Given the description of an element on the screen output the (x, y) to click on. 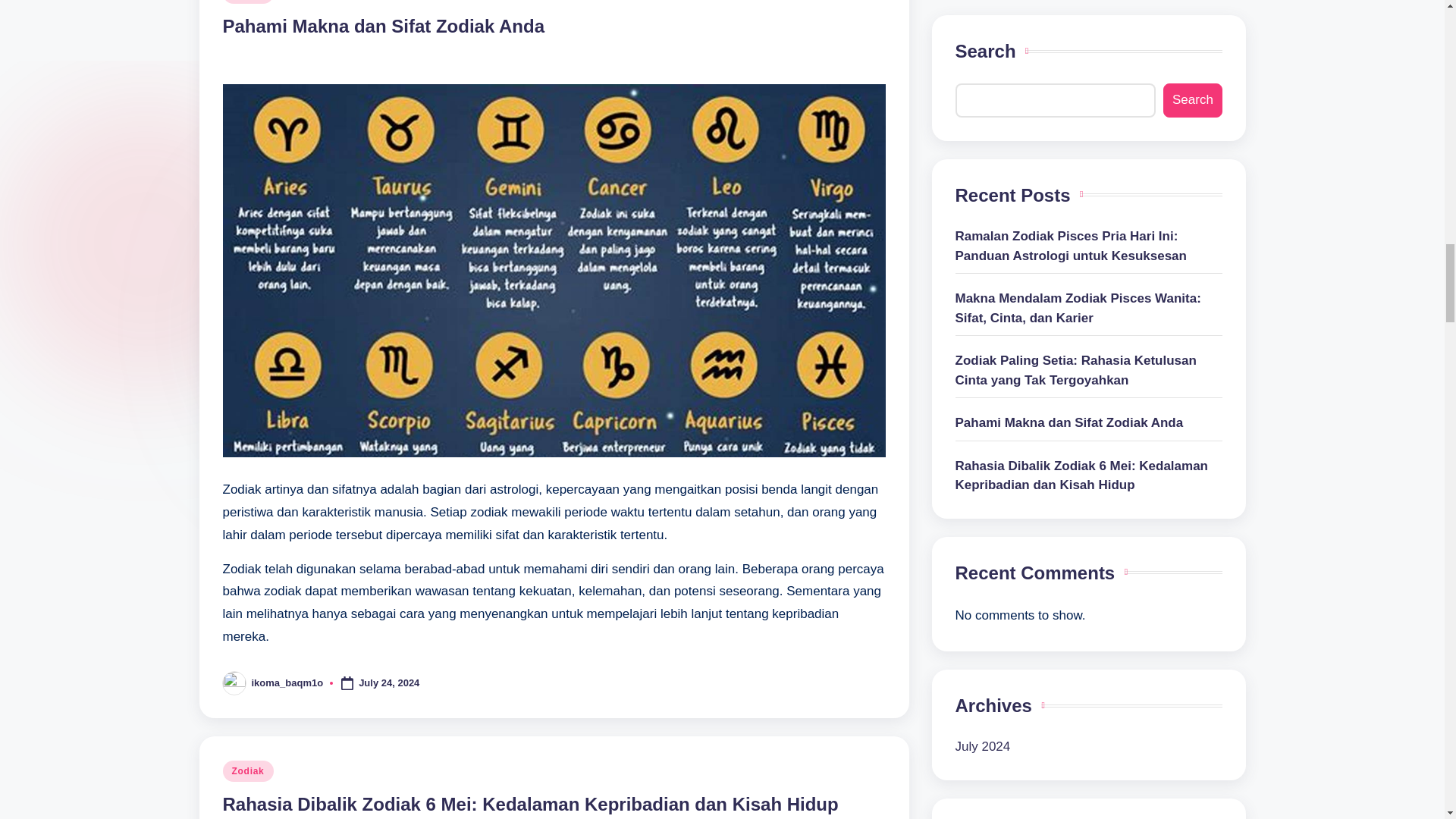
Pahami Makna dan Sifat Zodiak Anda (383, 25)
